Given the description of an element on the screen output the (x, y) to click on. 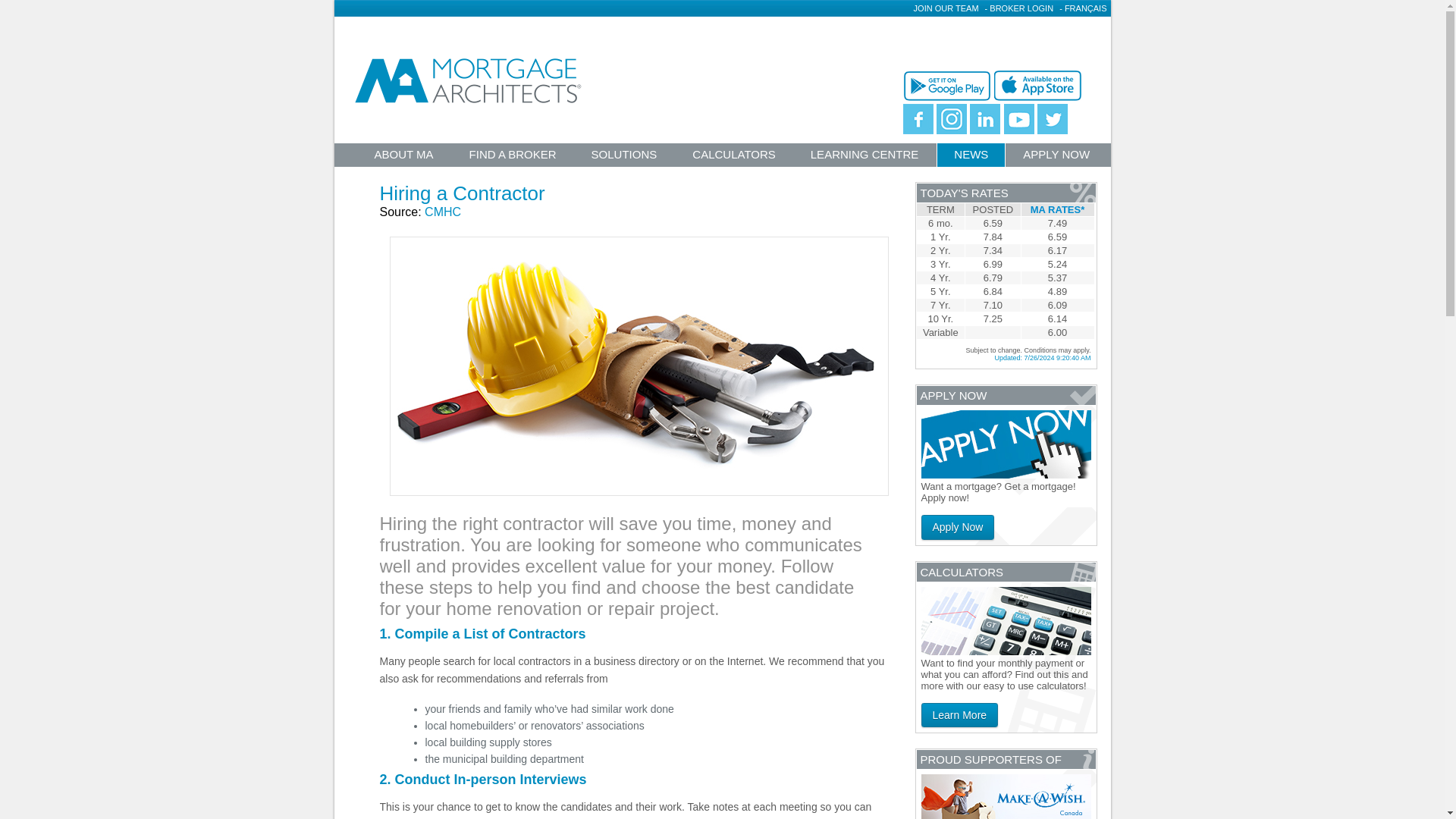
CMHC (443, 211)
NEWS (971, 155)
SOLUTIONS (624, 157)
JOIN OUR TEAM (946, 8)
APPLY NOW (1056, 157)
ABOUT MA (403, 157)
FIND A BROKER (512, 157)
CALCULATORS (733, 157)
LEARNING CENTRE (865, 157)
BROKER LOGIN (1021, 8)
